Given the description of an element on the screen output the (x, y) to click on. 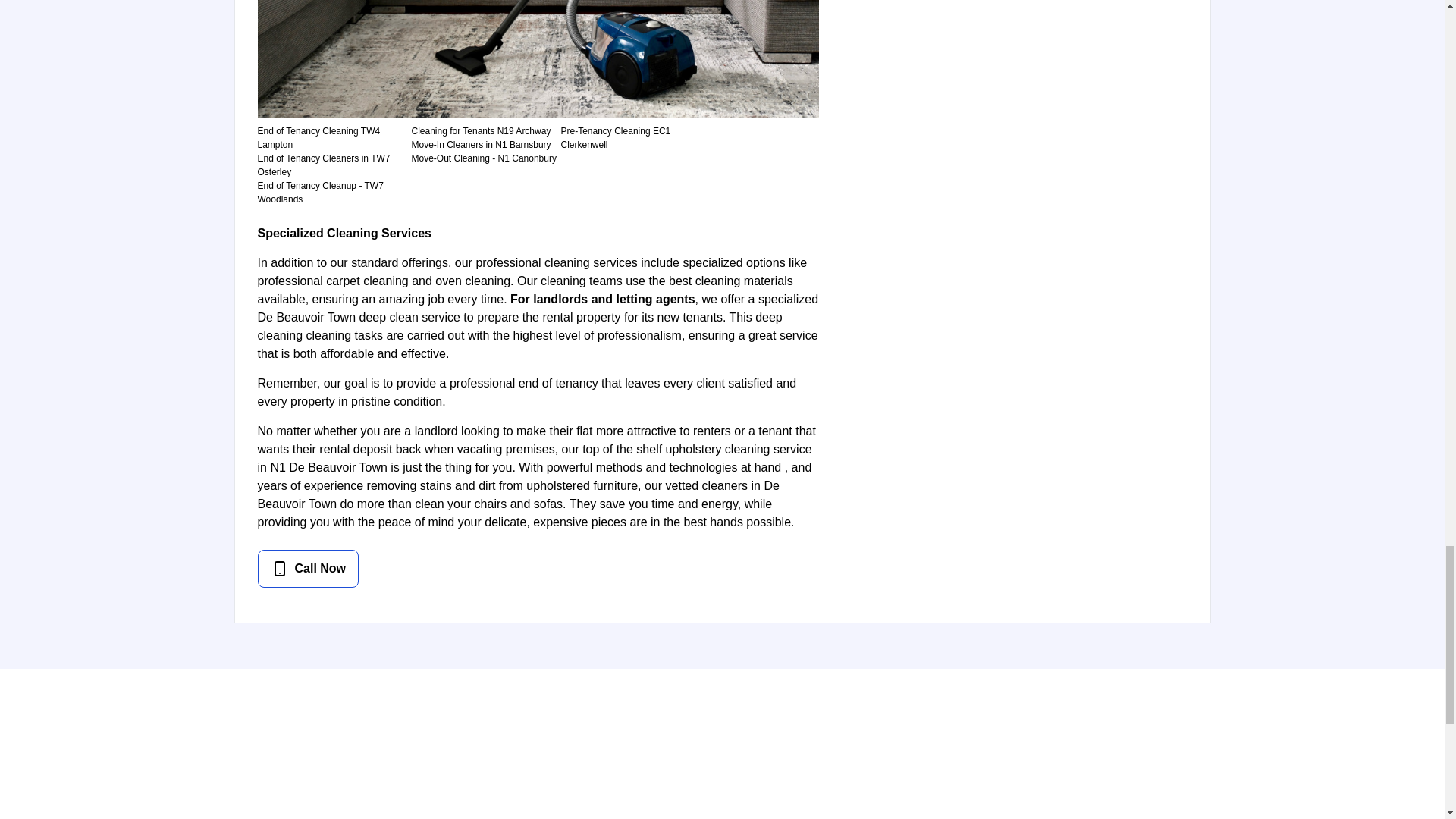
End of Tenancy Cleaning TW4 Lampton (318, 137)
End of Tenancy Cleanup - TW7 Woodlands (320, 192)
End of Tenancy Cleaning Lampton, TW4 (318, 137)
End of Tenancy Cleaners in TW7 Osterley (323, 165)
Pre-Tenancy Cleaning Clerkenwell, EC1 (615, 137)
Pre-Tenancy Cleaning EC1 Clerkenwell (615, 137)
Call Now (537, 568)
End of Tenancy Cleaners in Osterley, TW7 (323, 165)
Cleaning for Tenants Archway, N19 (480, 131)
End of Tenancy Cleanup - Woodlands, TW7 (320, 192)
Call Now (308, 568)
Move-In Cleaners in N1 Barnsbury (480, 144)
Move-In Cleaners in Barnsbury, N1 (480, 144)
Move-Out Cleaning - Canonbury, N1 (483, 158)
Move-Out Cleaning - N1 Canonbury (483, 158)
